Given the description of an element on the screen output the (x, y) to click on. 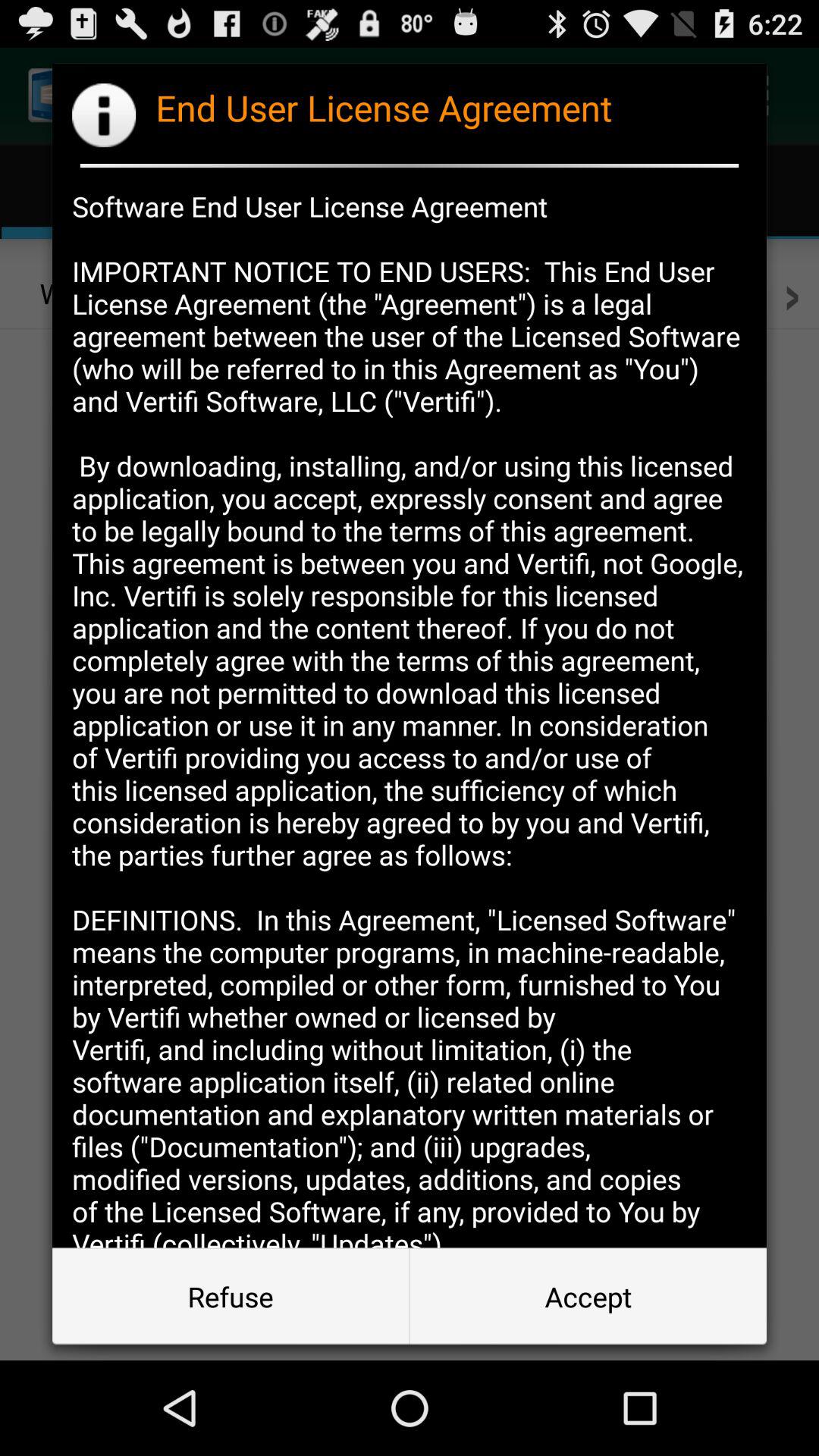
turn on the item to the right of refuse (588, 1296)
